Given the description of an element on the screen output the (x, y) to click on. 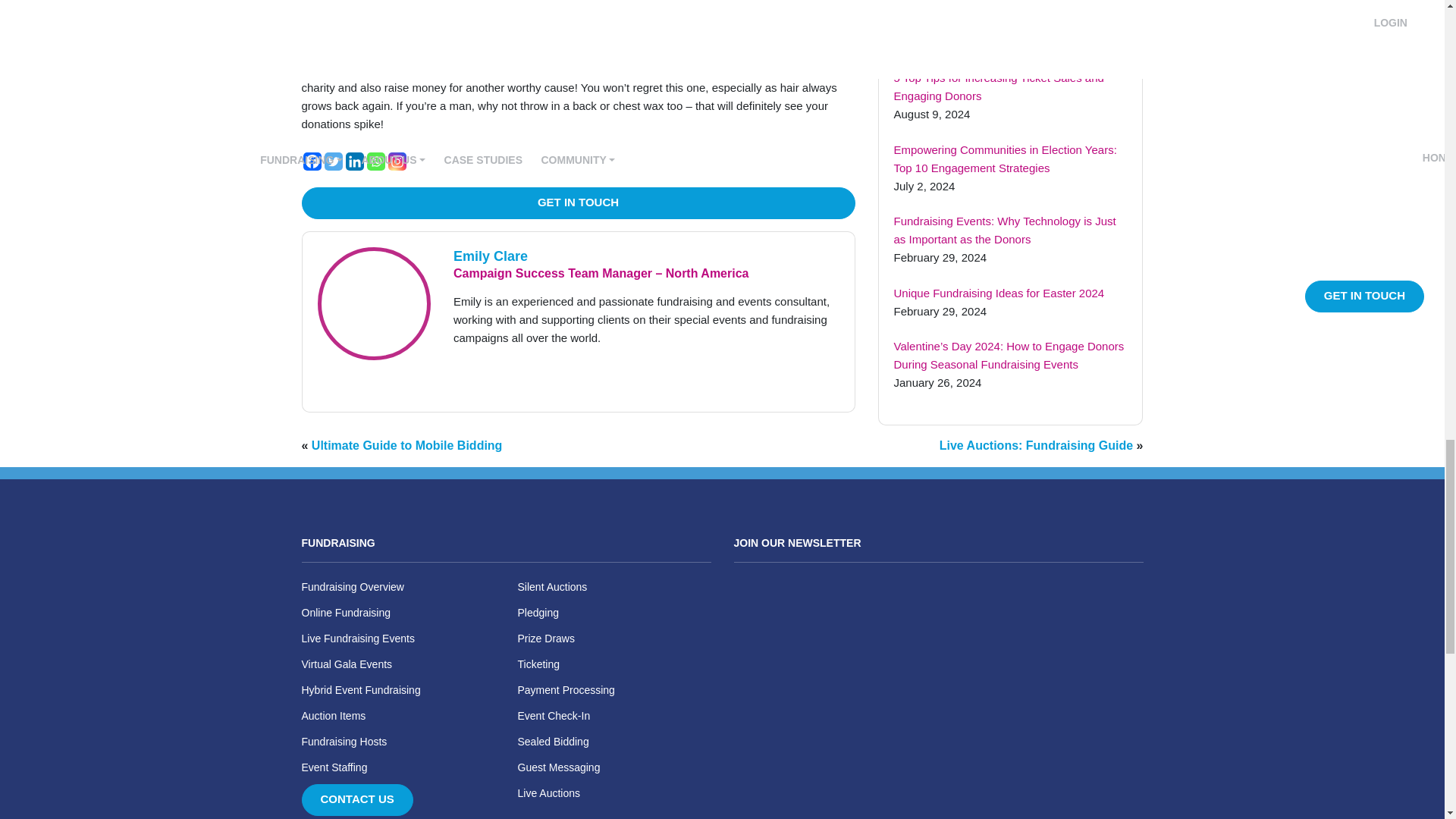
Linkedin (355, 161)
Instagram (397, 161)
Facebook (311, 161)
Twitter (333, 161)
Whatsapp (375, 161)
